Given the description of an element on the screen output the (x, y) to click on. 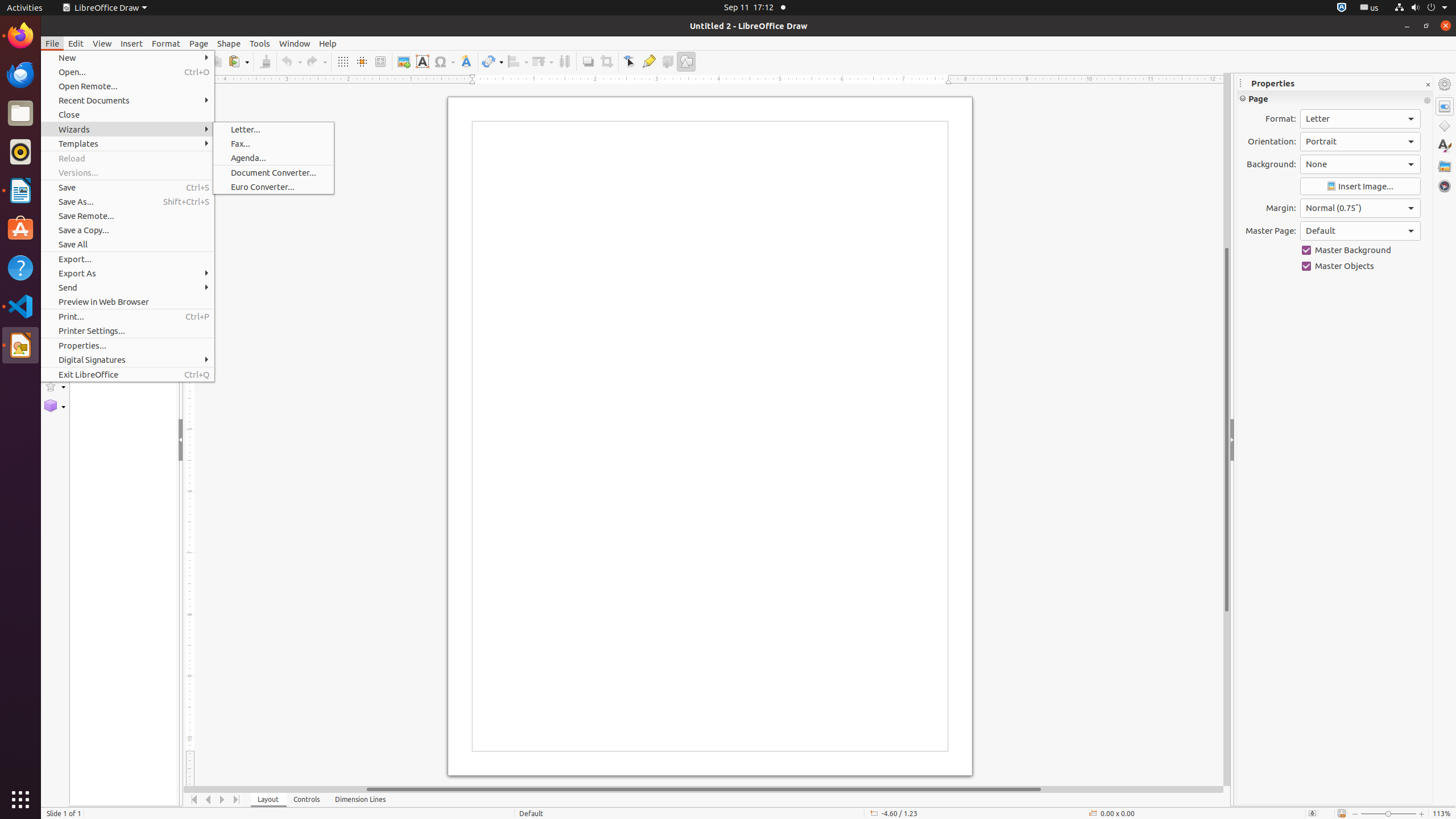
Align Element type: push-button (517, 61)
Master Background Element type: check-box (1360, 249)
Open... Element type: menu-item (127, 71)
